Given the description of an element on the screen output the (x, y) to click on. 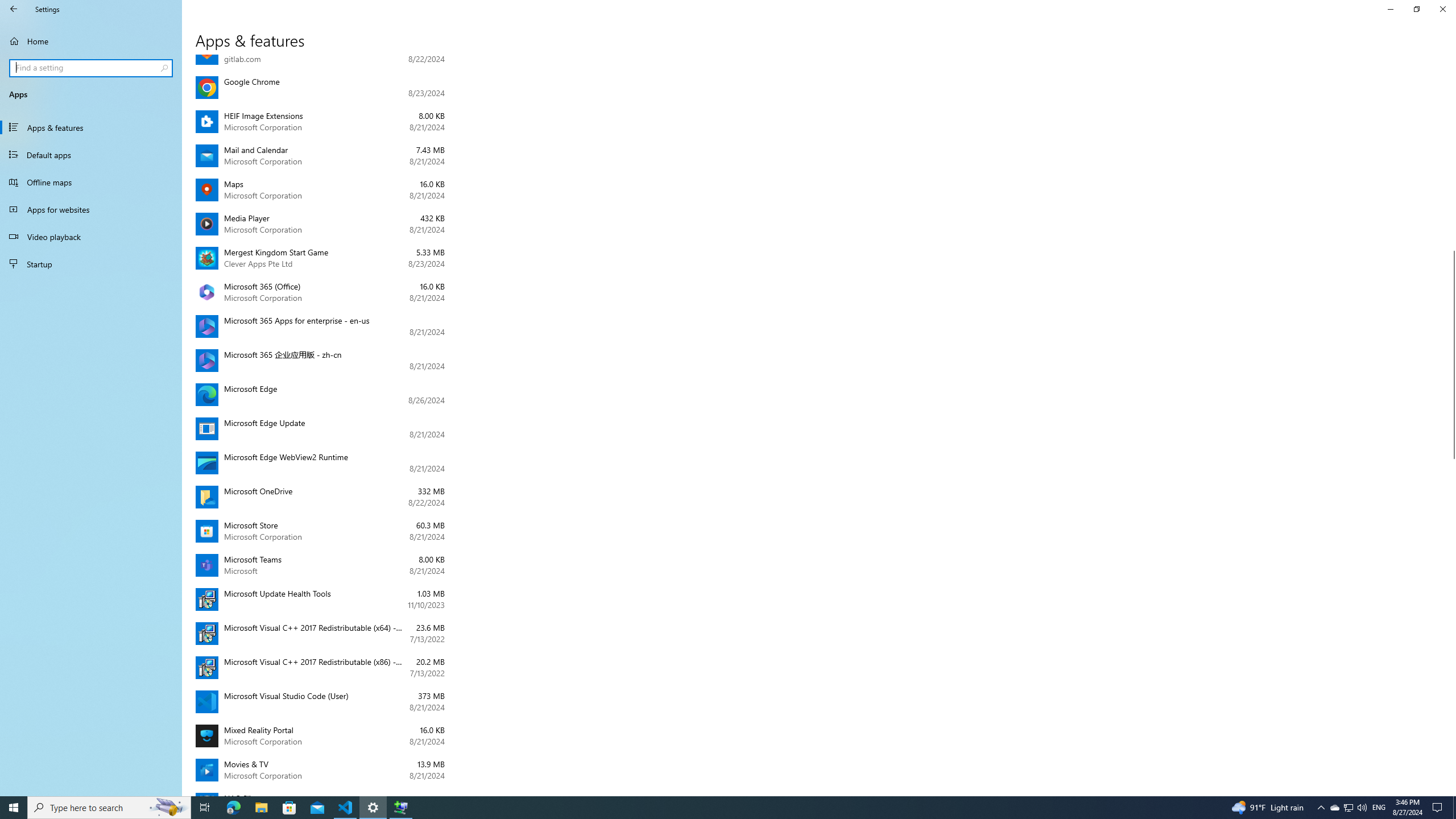
Running applications (706, 807)
Vertical Small Decrease (1451, 58)
